Given the description of an element on the screen output the (x, y) to click on. 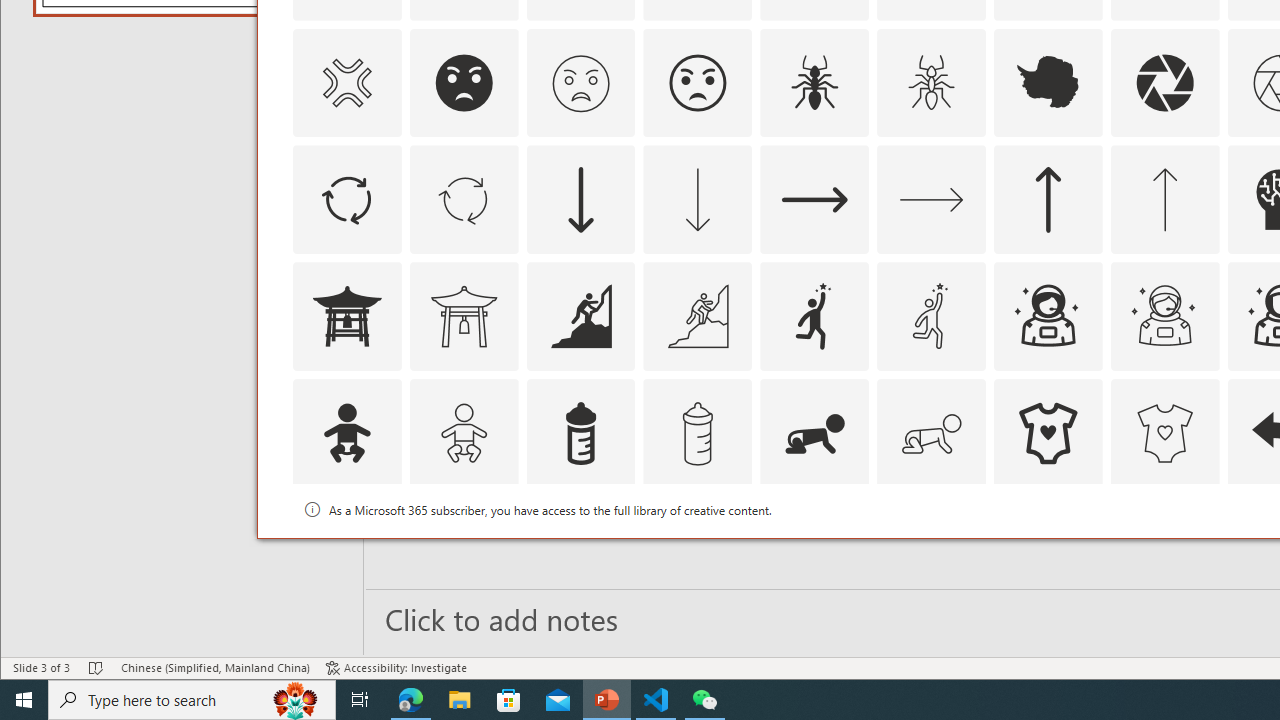
File Explorer (460, 699)
AutomationID: Icons_ArrowDown (580, 200)
Visual Studio Code - 1 running window (656, 699)
AutomationID: Icons_ArrowRight (815, 200)
Thumbnail (1204, 511)
WeChat - 1 running window (704, 699)
AutomationID: Icons_AstronautFemale (1048, 316)
